Given the description of an element on the screen output the (x, y) to click on. 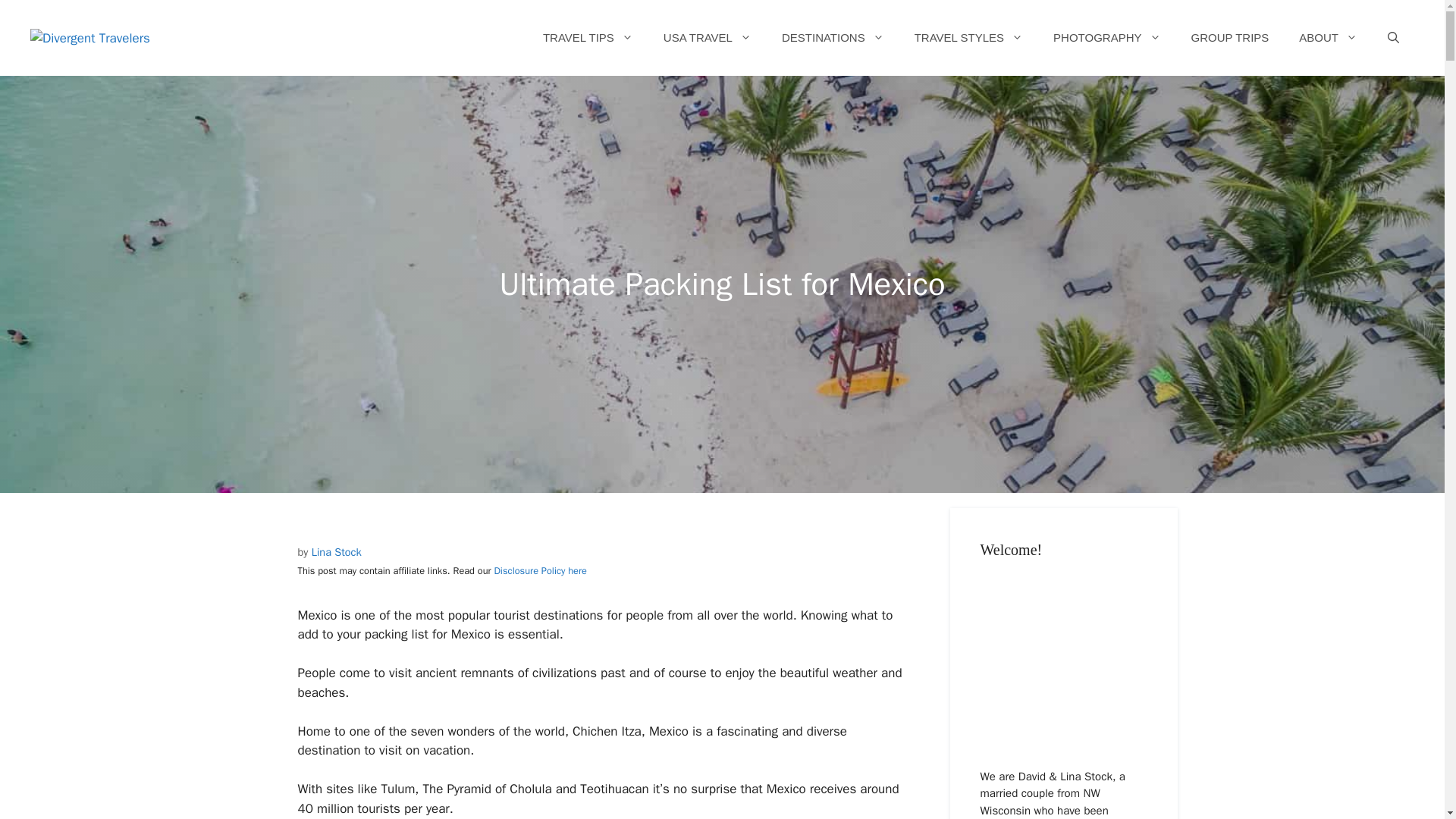
TRAVEL TIPS (587, 37)
View all posts by Lina Stock (336, 551)
USA TRAVEL (707, 37)
